Given the description of an element on the screen output the (x, y) to click on. 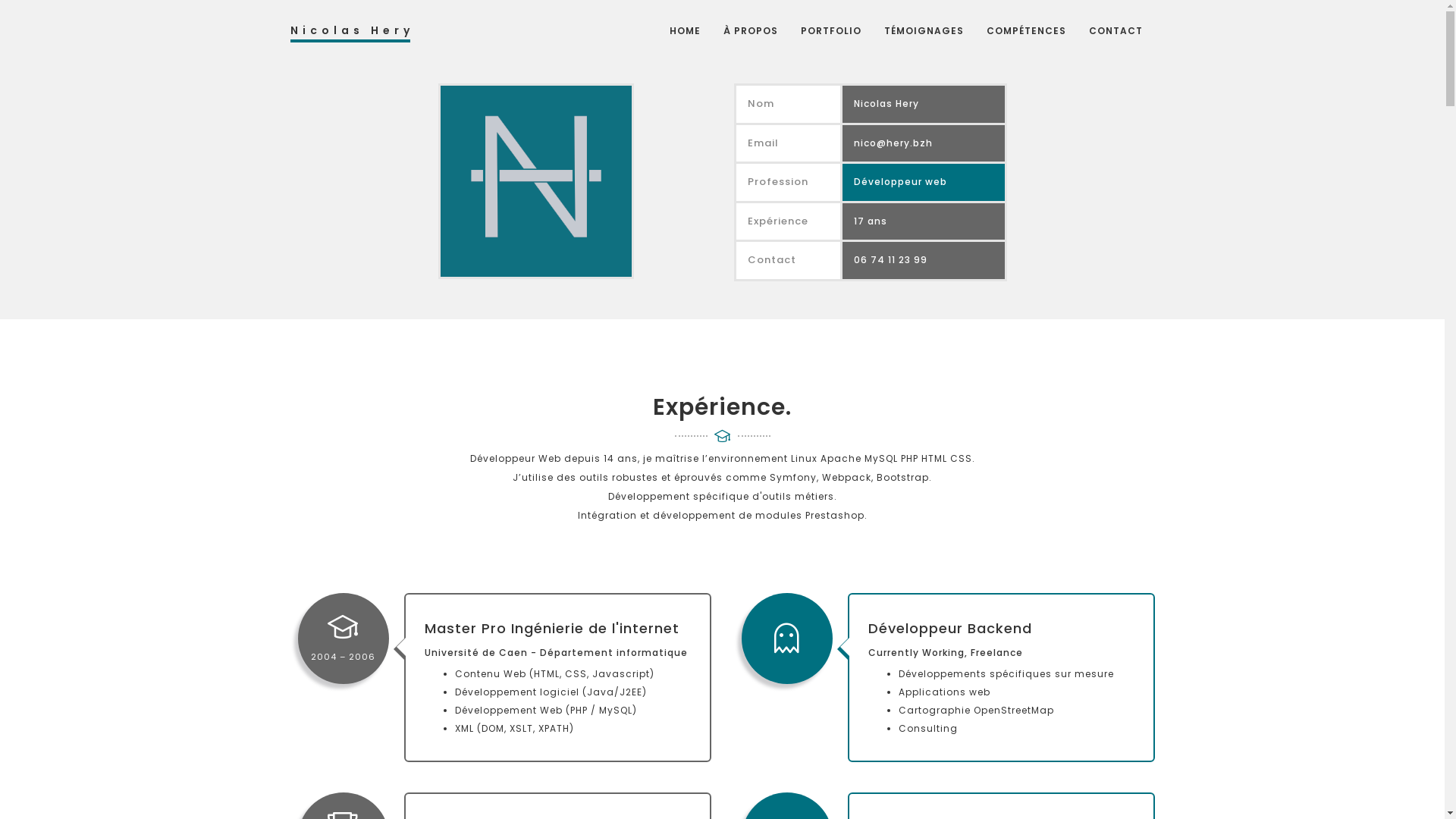
PORTFOLIO Element type: text (830, 30)
06 74 11 23 99 Element type: text (890, 259)
CONTACT Element type: text (1114, 30)
Nicolas Hery Element type: text (349, 31)
HOME Element type: text (685, 30)
nico@hery.bzh Element type: text (892, 142)
